Given the description of an element on the screen output the (x, y) to click on. 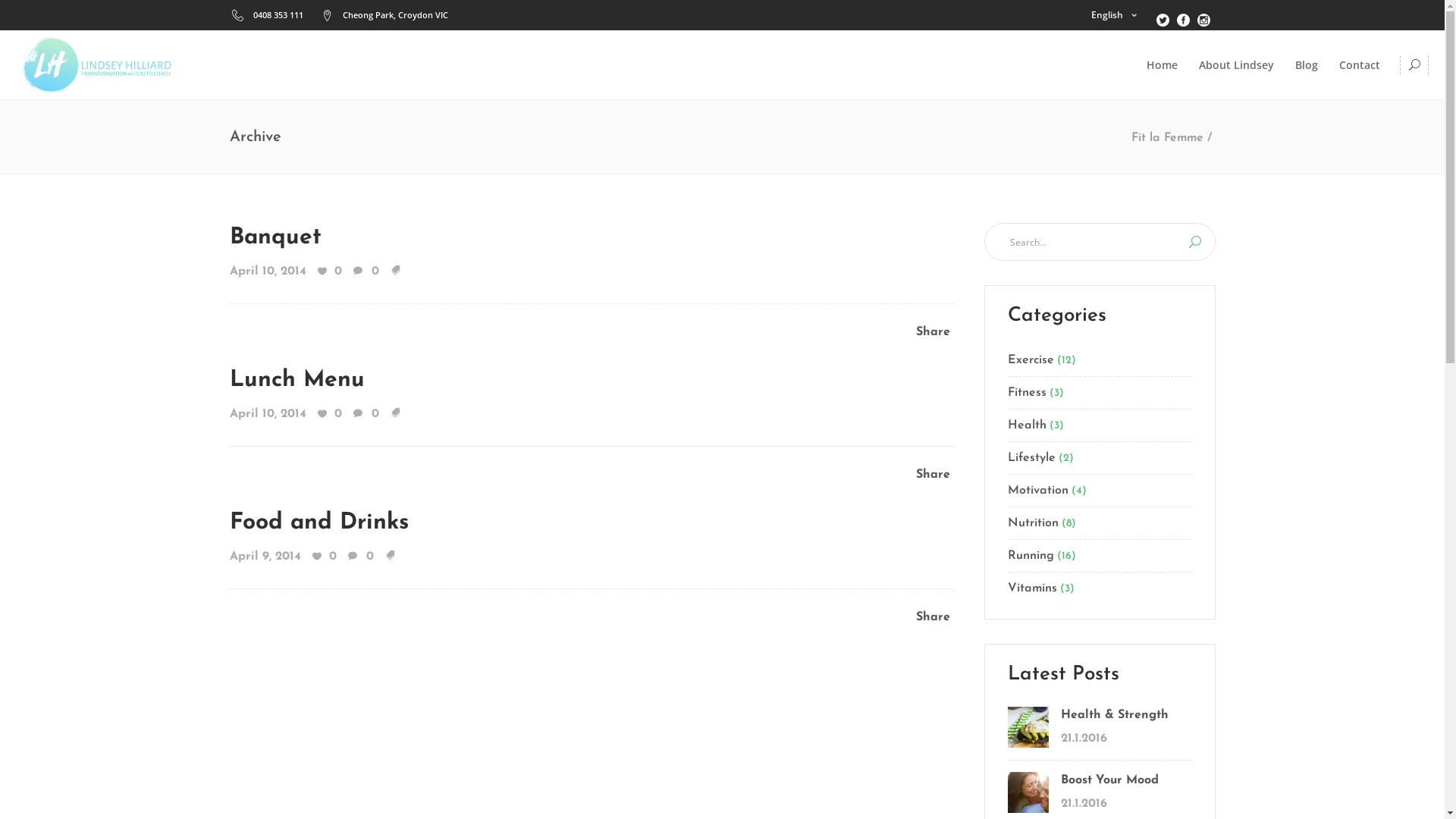
About Lindsey Element type: text (1236, 64)
0 Element type: text (360, 556)
Lifestyle Element type: text (1030, 457)
Contact Element type: text (1359, 64)
Boost Your Mood Element type: text (1108, 780)
0 Element type: text (366, 271)
Nutrition Element type: text (1032, 523)
Health & Strength Element type: text (1113, 715)
U Element type: text (1194, 241)
Fitness Element type: text (1026, 392)
0 Element type: text (328, 414)
Blog Element type: text (1306, 64)
Food and Drinks Element type: text (318, 522)
Health Element type: text (1026, 425)
0 Element type: text (324, 556)
Search Element type: text (1385, 123)
0 Element type: text (328, 271)
Banquet Element type: text (274, 237)
0 Element type: text (366, 414)
Vitamins Element type: text (1031, 585)
Fit la Femme Element type: text (1167, 137)
Running Element type: text (1030, 555)
English Element type: text (1113, 15)
Home Element type: text (1161, 64)
Exercise Element type: text (1030, 360)
Motivation Element type: text (1037, 490)
Lunch Menu Element type: text (296, 380)
